Given the description of an element on the screen output the (x, y) to click on. 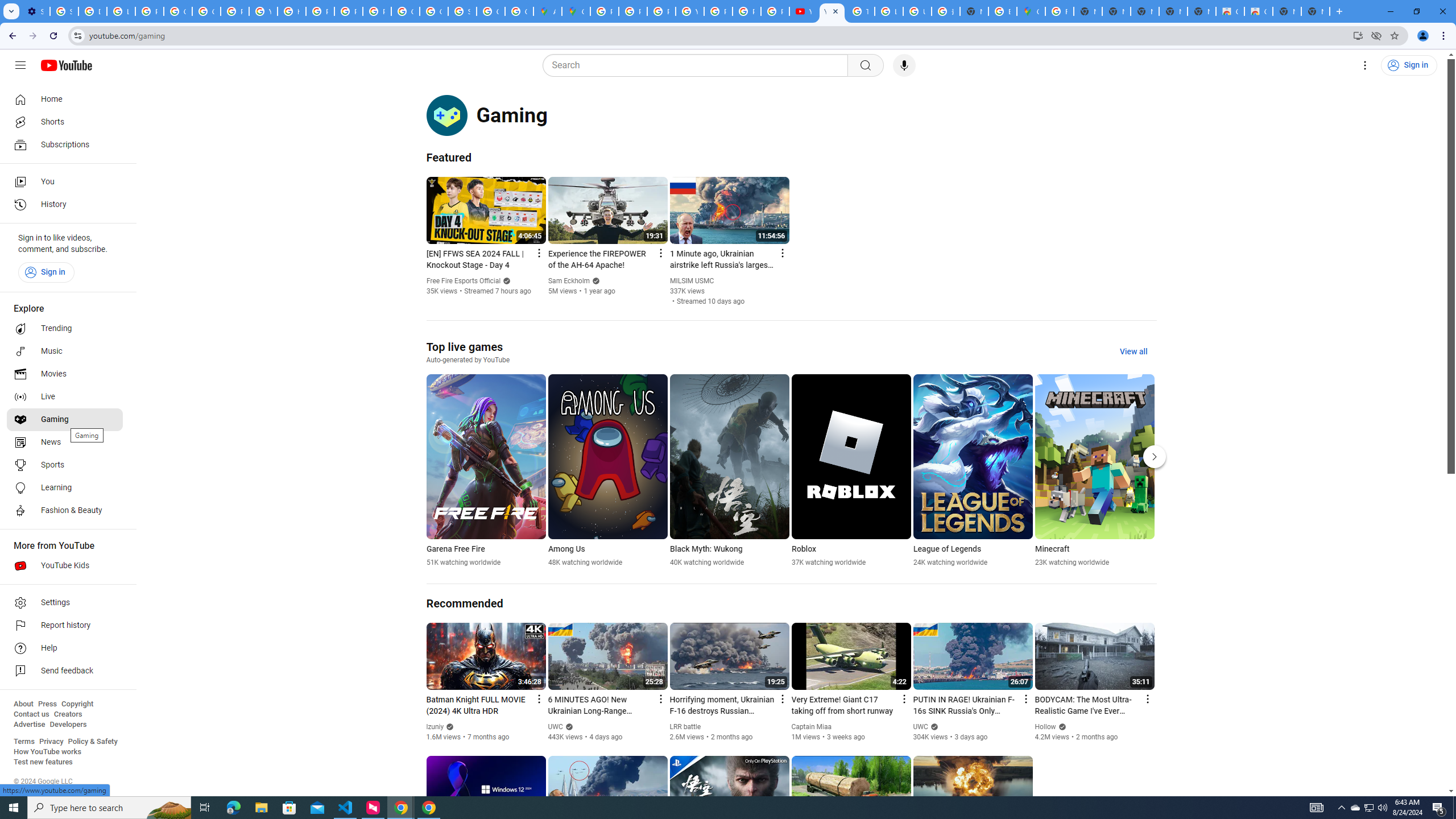
History (64, 204)
YouTube Home (66, 65)
YouTube (690, 11)
Press (46, 703)
Creators (67, 714)
Classic Blue - Chrome Web Store (1258, 11)
Policy & Safety (91, 741)
New Tab (973, 11)
Contact us (31, 714)
Learning (64, 487)
Developers (68, 724)
Create your Google Account (518, 11)
New Tab (1315, 11)
